Given the description of an element on the screen output the (x, y) to click on. 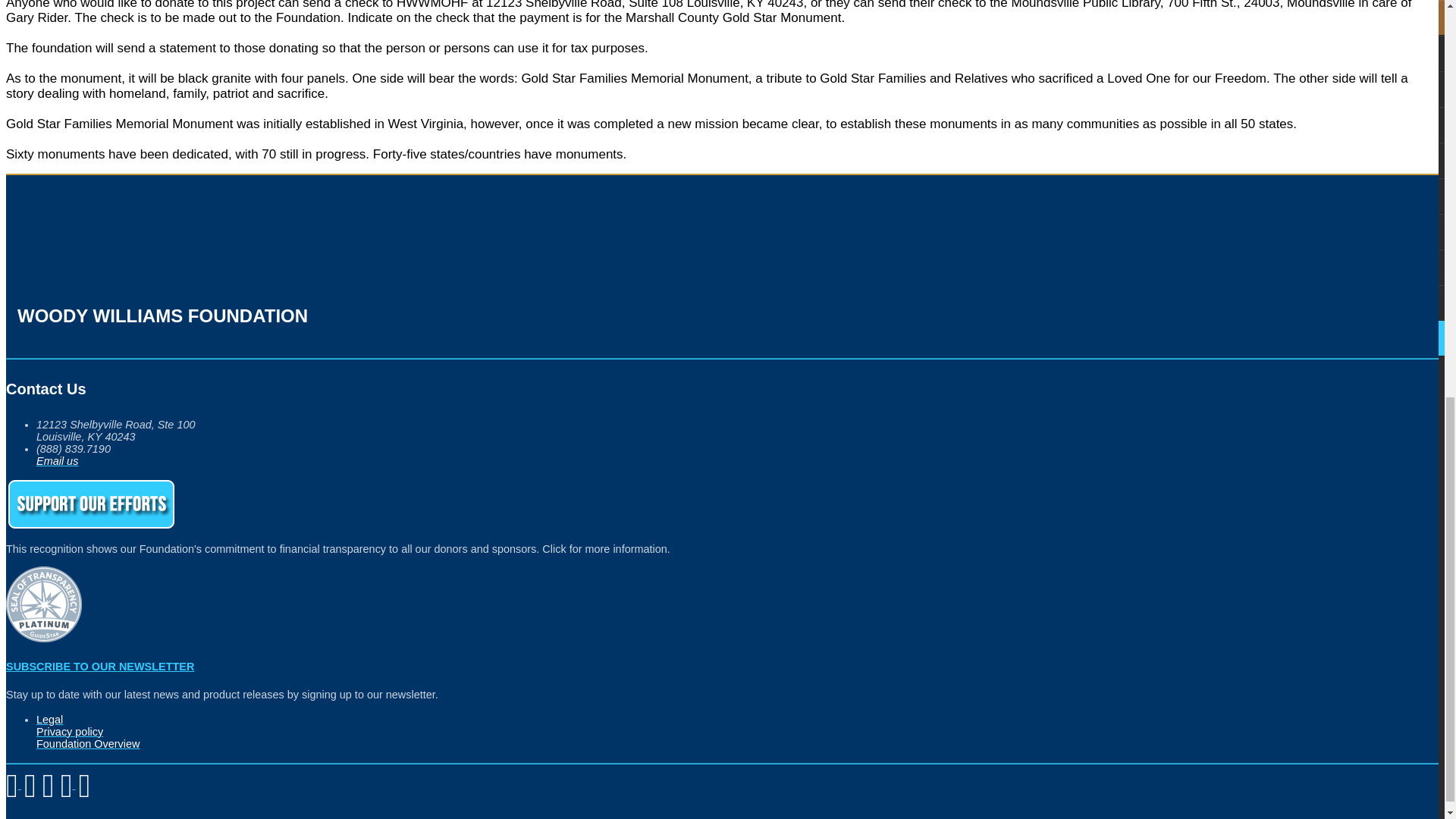
SUBSCRIBE TO OUR NEWSLETTER (99, 666)
Legal (49, 719)
Privacy policy (69, 731)
Foundation Overview (87, 743)
Email us (57, 460)
